Given the description of an element on the screen output the (x, y) to click on. 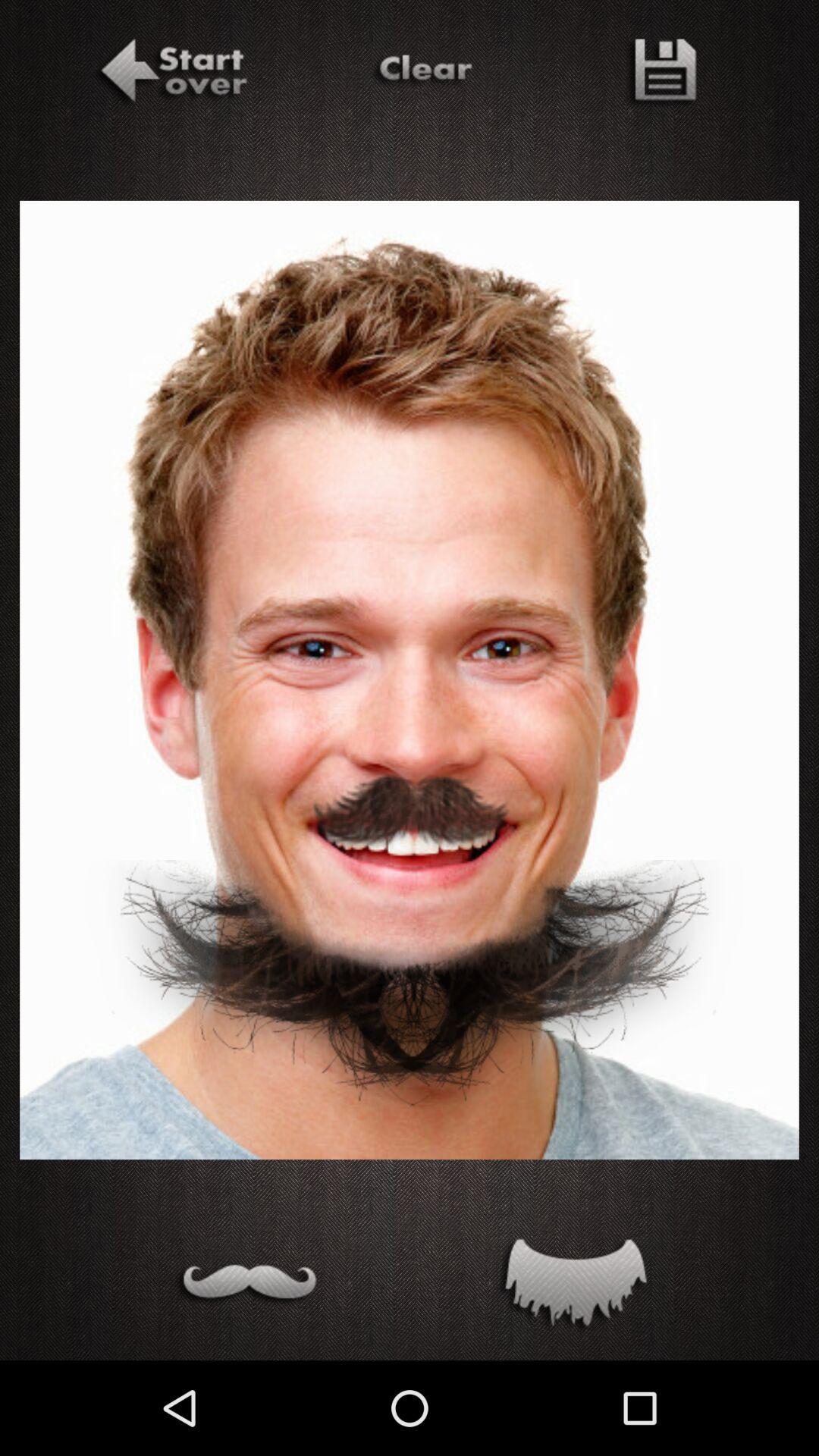
clear mustache and beard (422, 73)
